Given the description of an element on the screen output the (x, y) to click on. 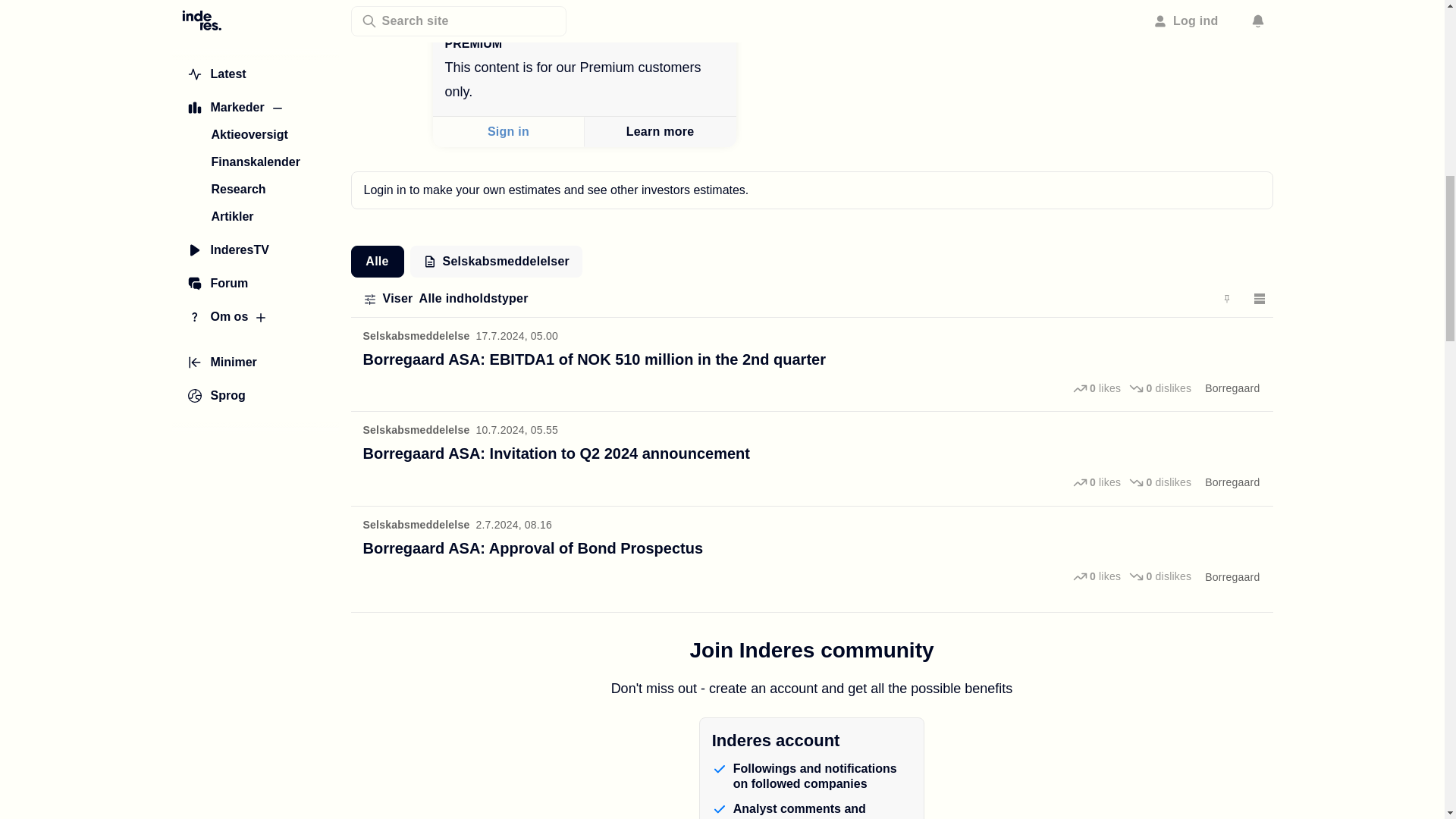
0 likes (1096, 482)
Log in to dislike (1159, 482)
Borregaard (1232, 388)
Borregaard (1232, 482)
Borregaard ASA: Approval of Bond Prospectus (532, 547)
0 dislikes (1159, 482)
0 likes (1096, 388)
Log in to dislike (1159, 577)
0 dislikes (1159, 388)
